Given the description of an element on the screen output the (x, y) to click on. 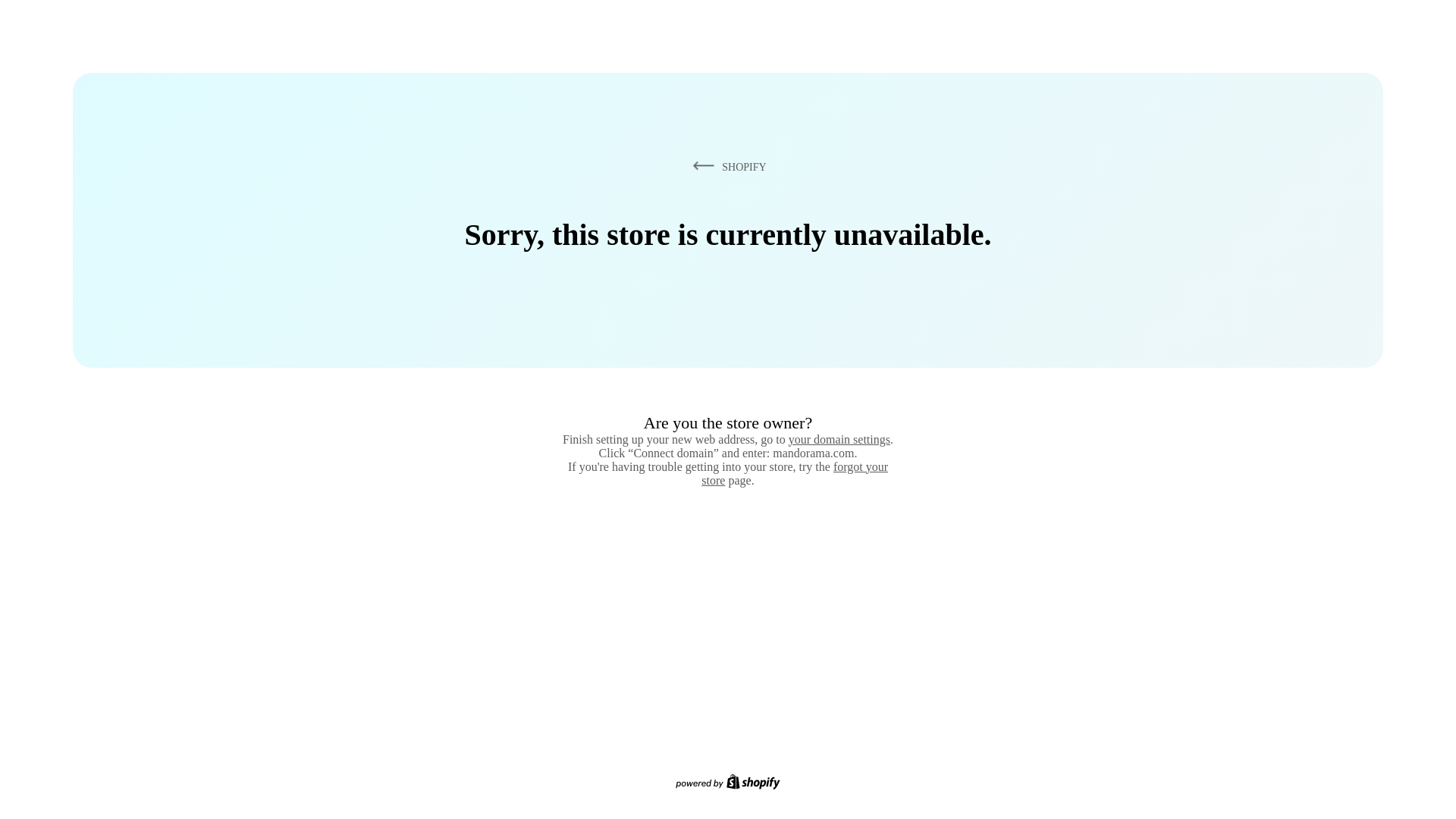
your domain settings (839, 439)
forgot your store (794, 473)
SHOPIFY (726, 166)
